Given the description of an element on the screen output the (x, y) to click on. 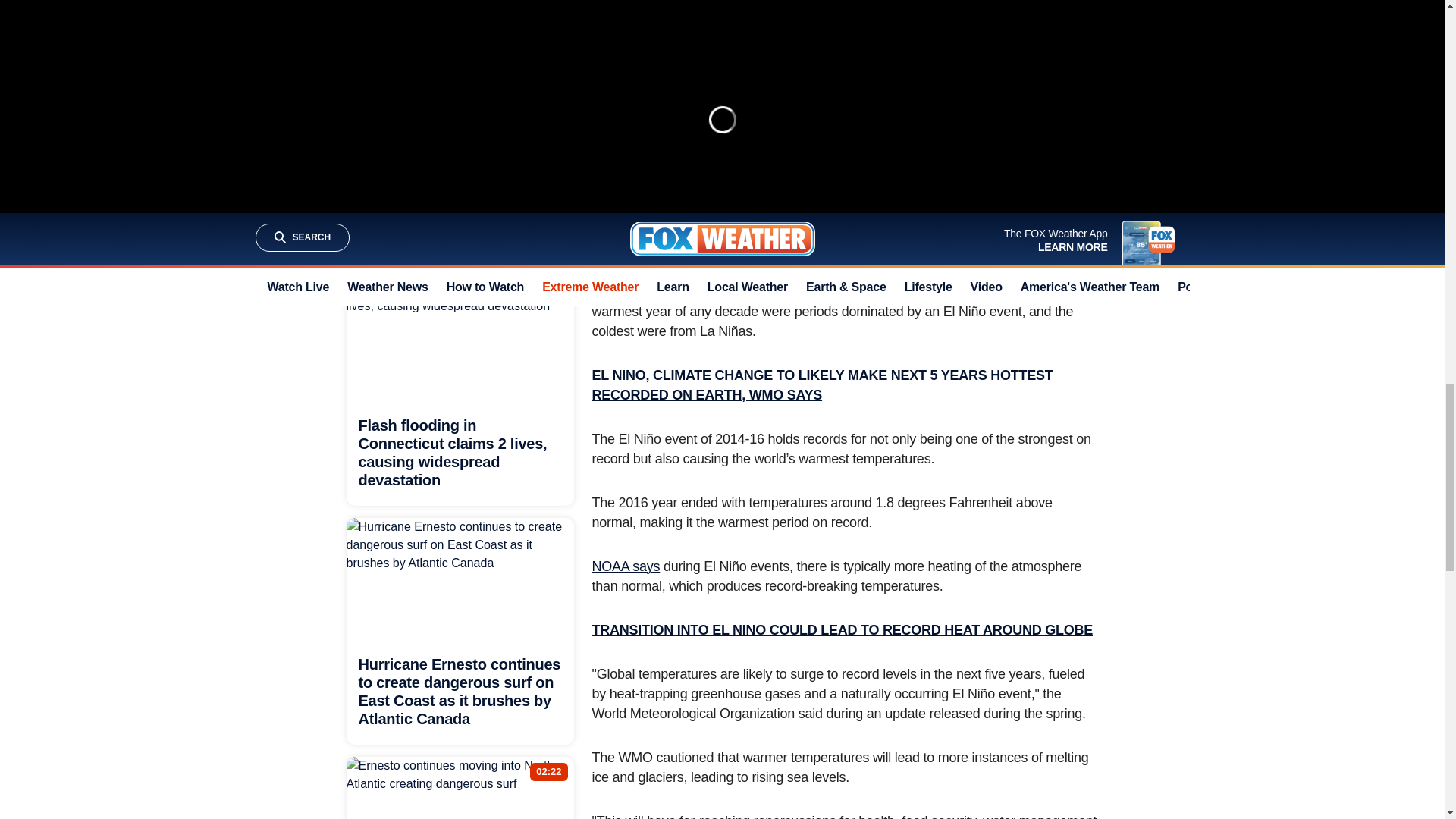
NOAA says (625, 566)
